Given the description of an element on the screen output the (x, y) to click on. 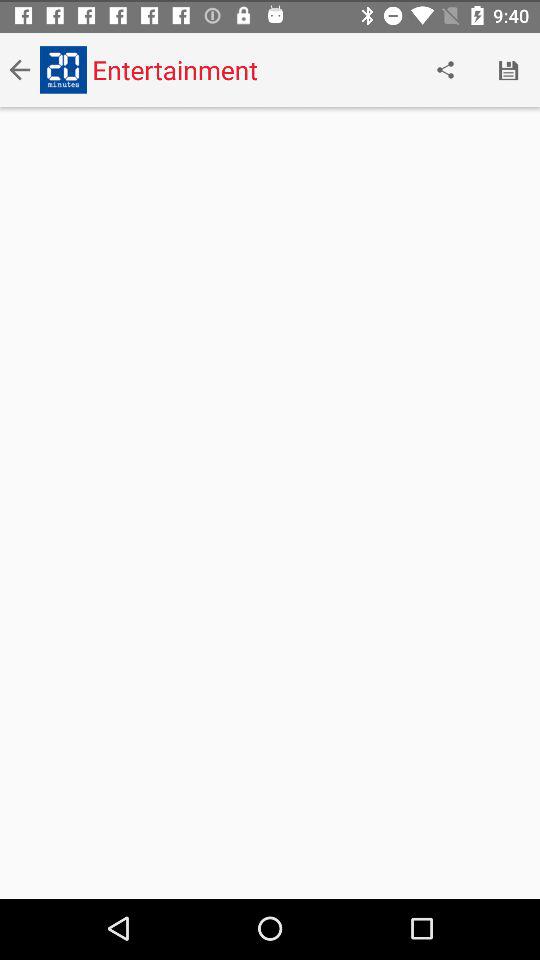
choose the icon to the right of entertainment (444, 67)
